Given the description of an element on the screen output the (x, y) to click on. 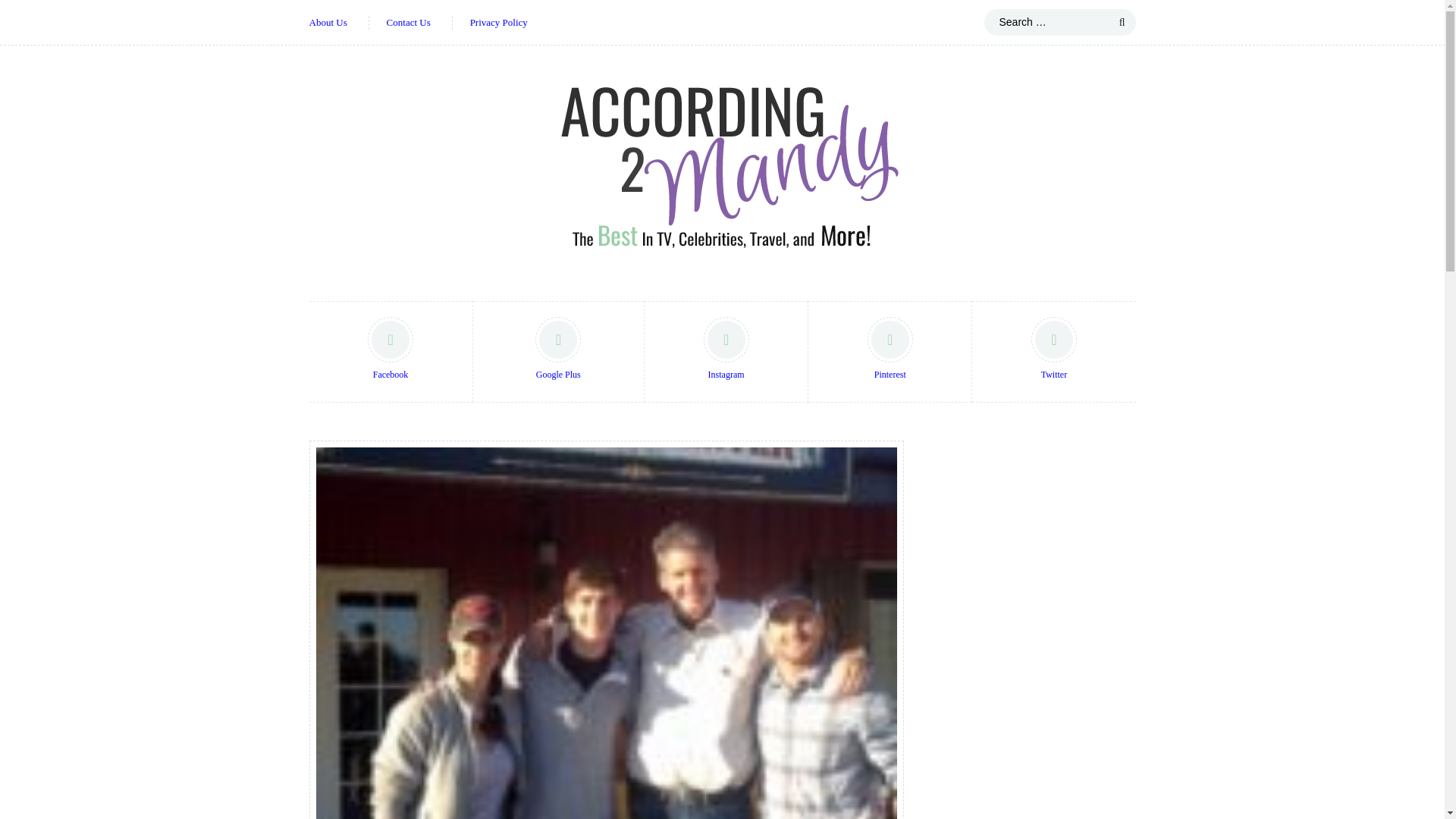
Facebook (390, 352)
Facebook (390, 352)
Search for: (1059, 22)
Instagram (725, 352)
Twitter (1053, 352)
Instagram (725, 352)
Pinterest (890, 352)
Pinterest (890, 352)
Contact Us (408, 22)
Privacy Policy (498, 22)
